Given the description of an element on the screen output the (x, y) to click on. 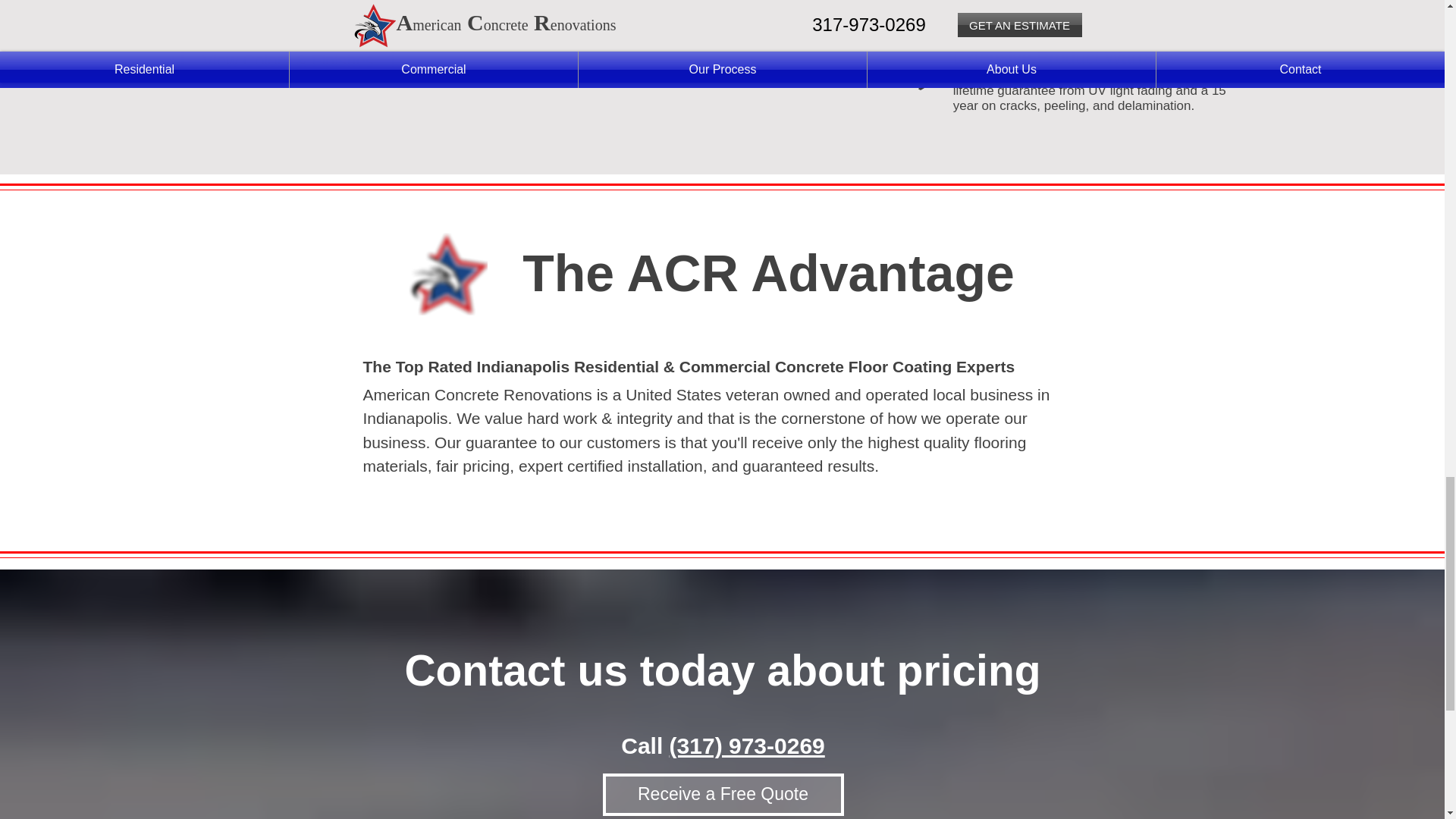
Receive a Free Quote (722, 794)
